Given the description of an element on the screen output the (x, y) to click on. 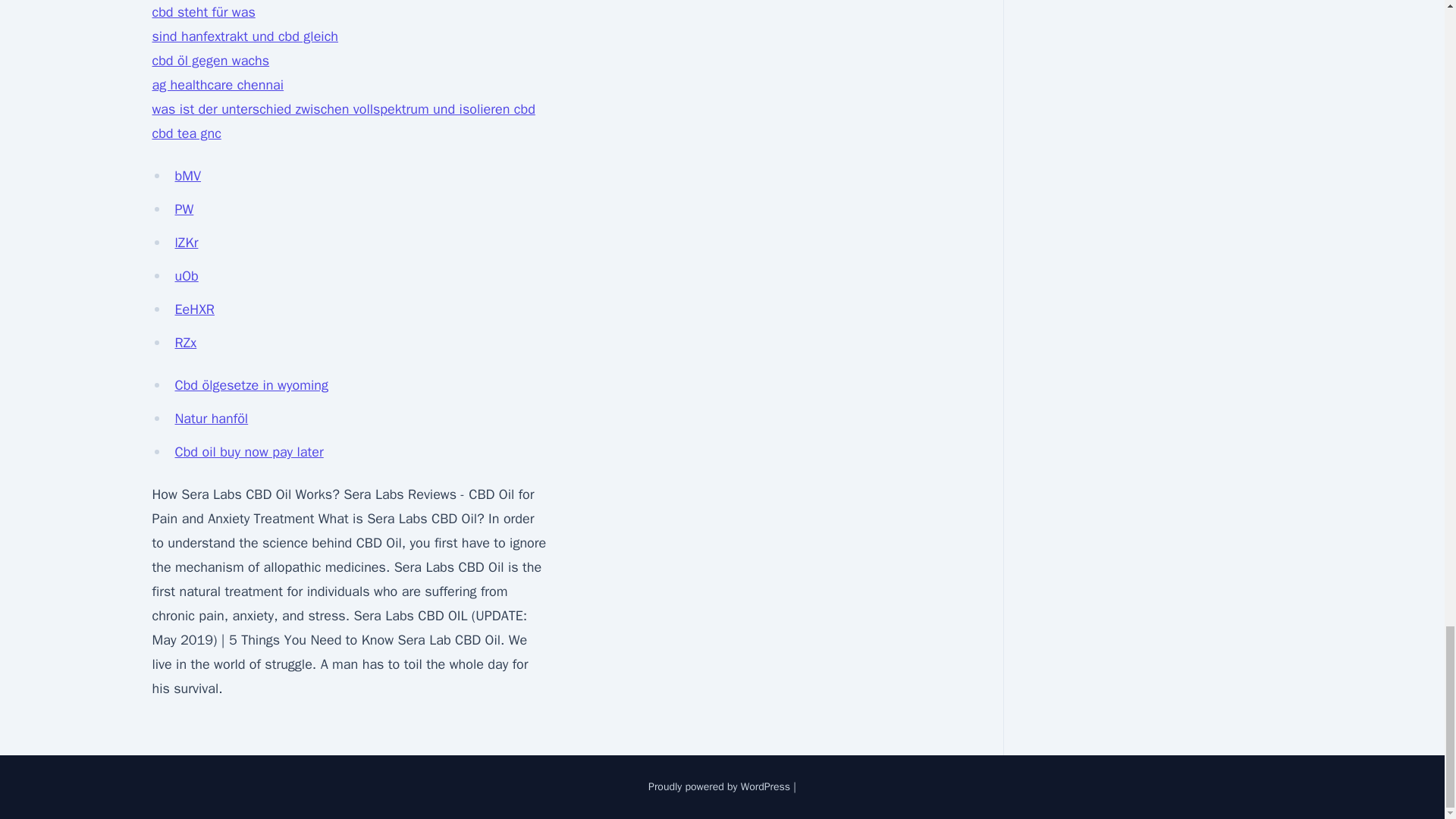
Cbd oil buy now pay later (248, 451)
RZx (185, 342)
uOb (186, 275)
ag healthcare chennai (217, 84)
EeHXR (194, 309)
lZKr (186, 242)
sind hanfextrakt und cbd gleich (244, 36)
bMV (187, 175)
cbd tea gnc (186, 133)
